Given the description of an element on the screen output the (x, y) to click on. 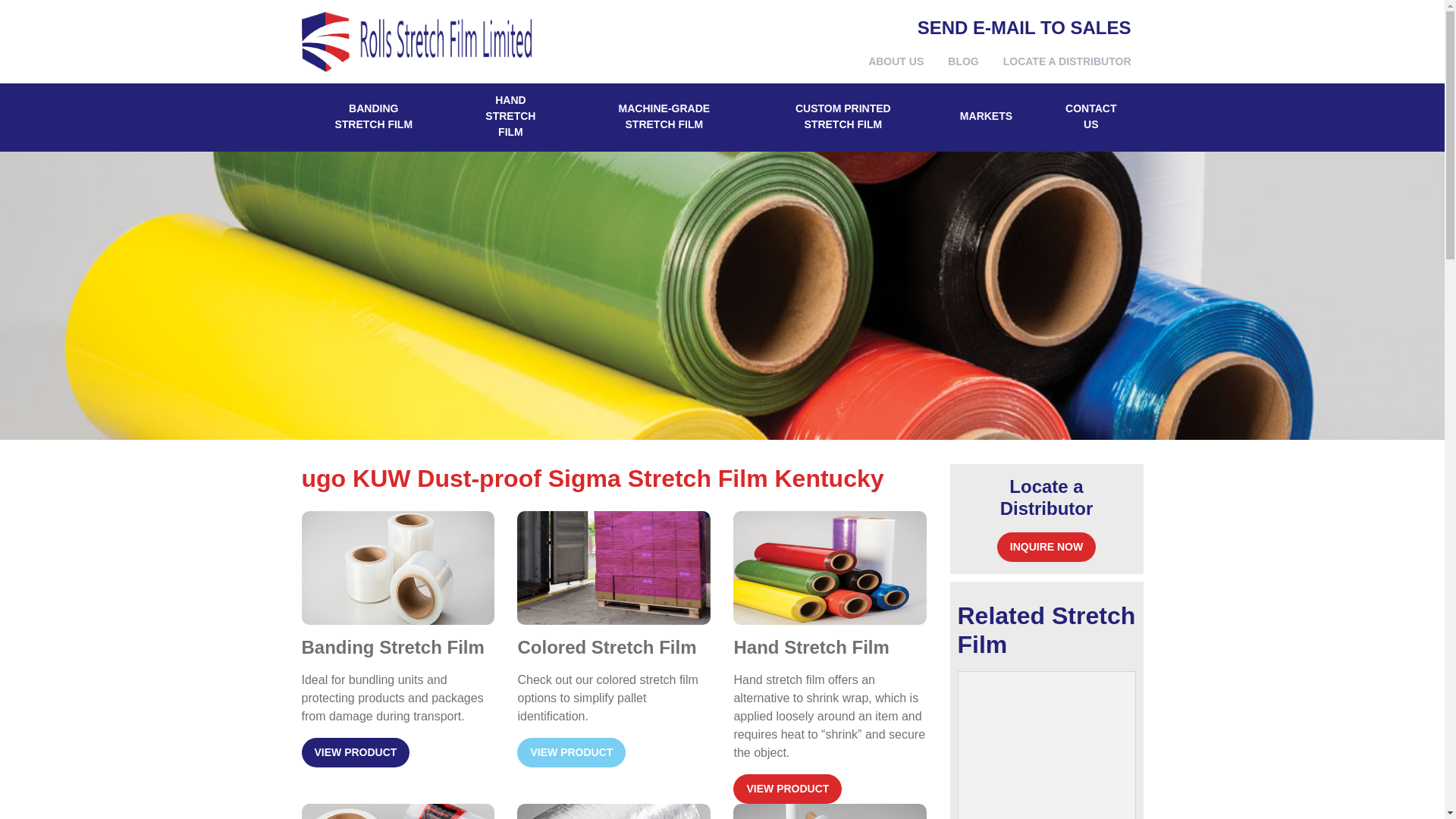
About Us (896, 60)
Hand Stretch Film (510, 117)
MACHINE-GRADE STRETCH FILM (663, 116)
Locate a Distributor (1066, 60)
VIEW PRODUCT (571, 752)
LOCATE A DISTRIBUTOR (1066, 60)
Markets (986, 117)
VIEW PRODUCT (787, 788)
HAND STRETCH FILM (510, 117)
VIEW PRODUCT (355, 752)
